Given the description of an element on the screen output the (x, y) to click on. 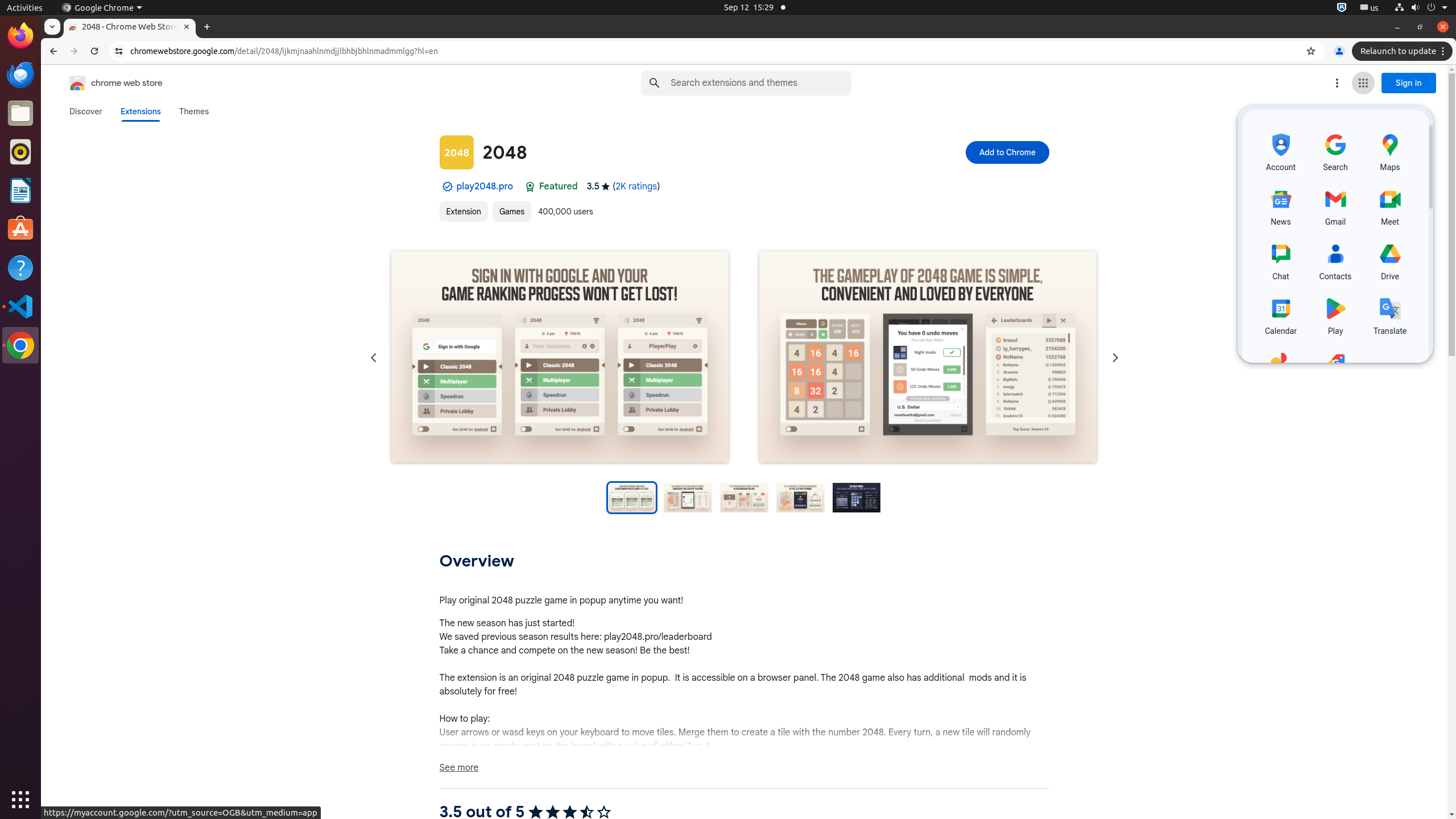
Gmail, row 2 of 5 and column 2 of 3 in the first section (opens a new tab) Element type: link (1335, 205)
